Given the description of an element on the screen output the (x, y) to click on. 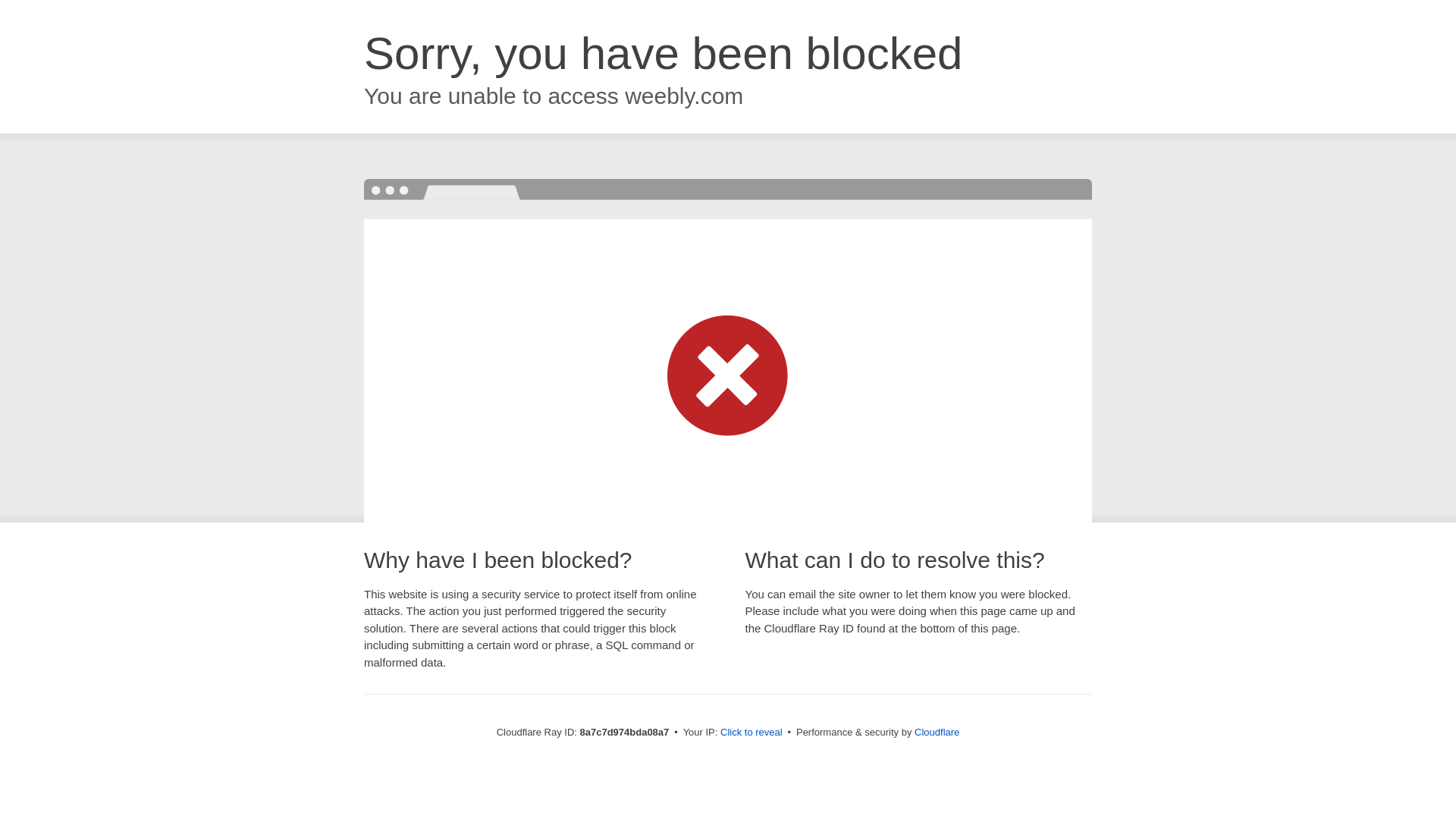
Cloudflare (936, 731)
Click to reveal (751, 732)
